Given the description of an element on the screen output the (x, y) to click on. 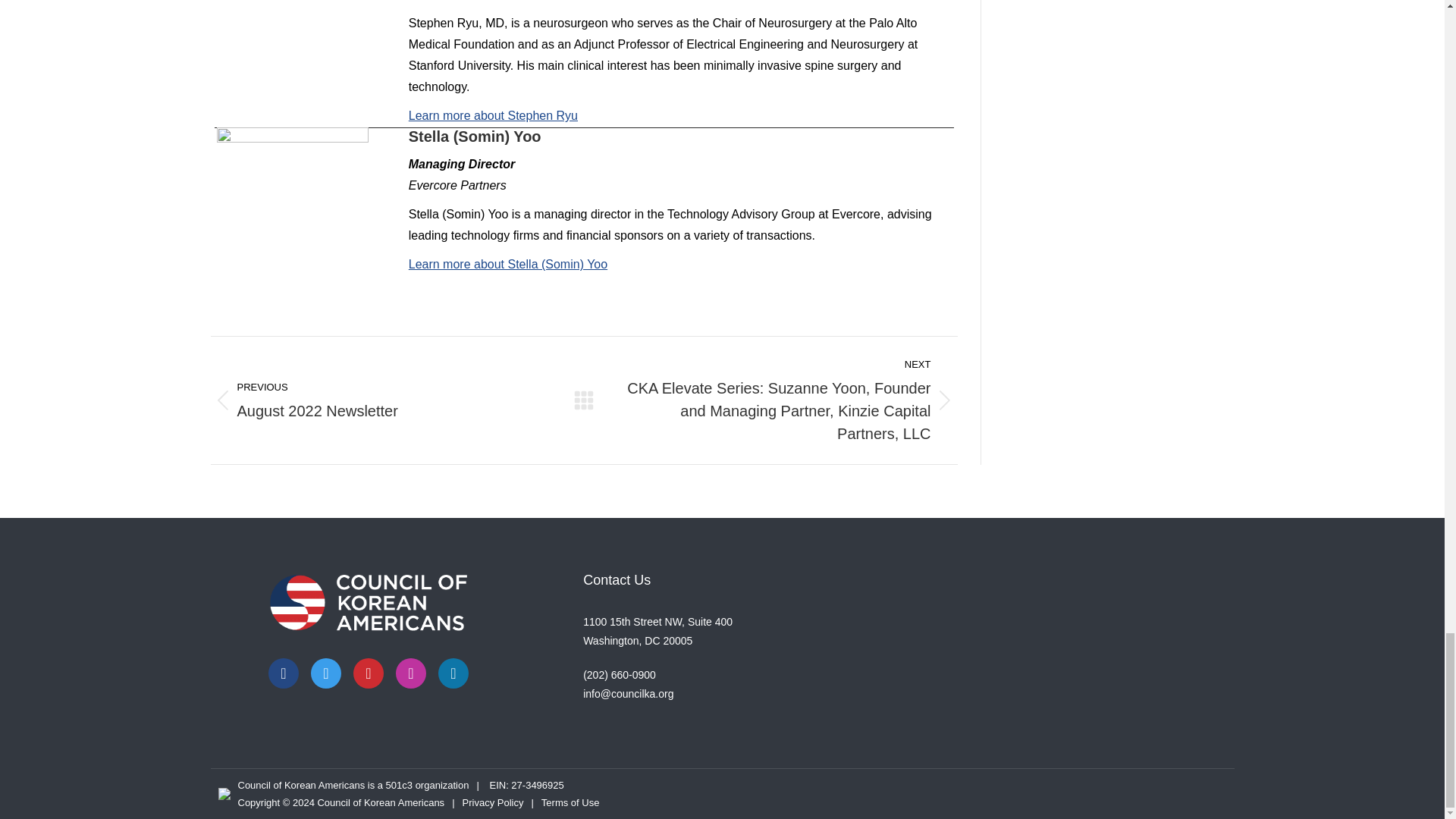
Stephen Ryu (292, 43)
